Given the description of an element on the screen output the (x, y) to click on. 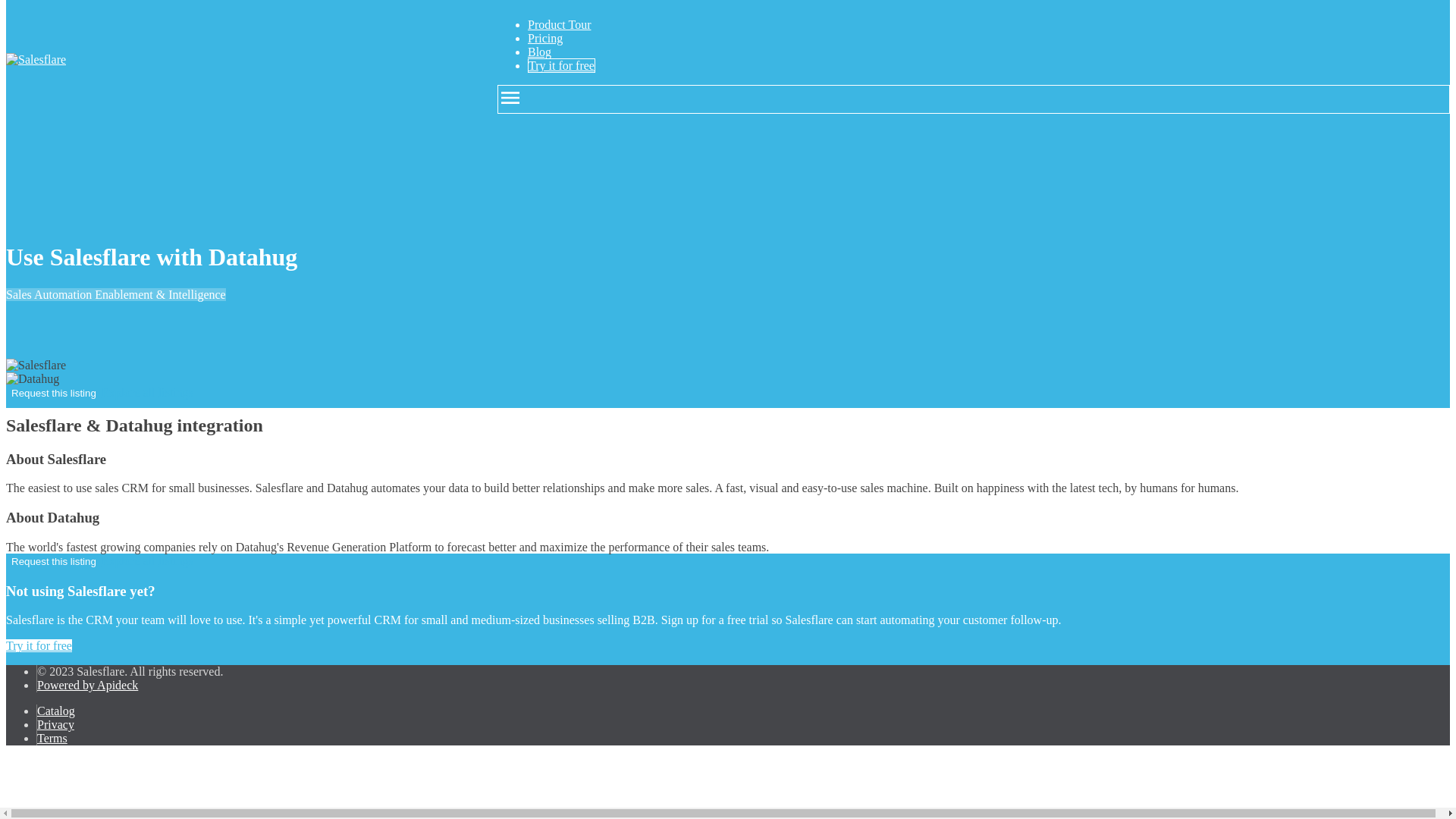
Datahug (32, 378)
Pricing (544, 38)
Try it for free (561, 65)
Product Tour (559, 24)
Salesflare (35, 365)
Powered by Apideck (87, 684)
Request this listing (53, 561)
Salesflare (35, 59)
Terms (51, 738)
Catalog (56, 710)
Blog (539, 51)
Explore all listings (147, 560)
Explore all listings (147, 391)
Request this listing (53, 392)
Try it for free (38, 645)
